Given the description of an element on the screen output the (x, y) to click on. 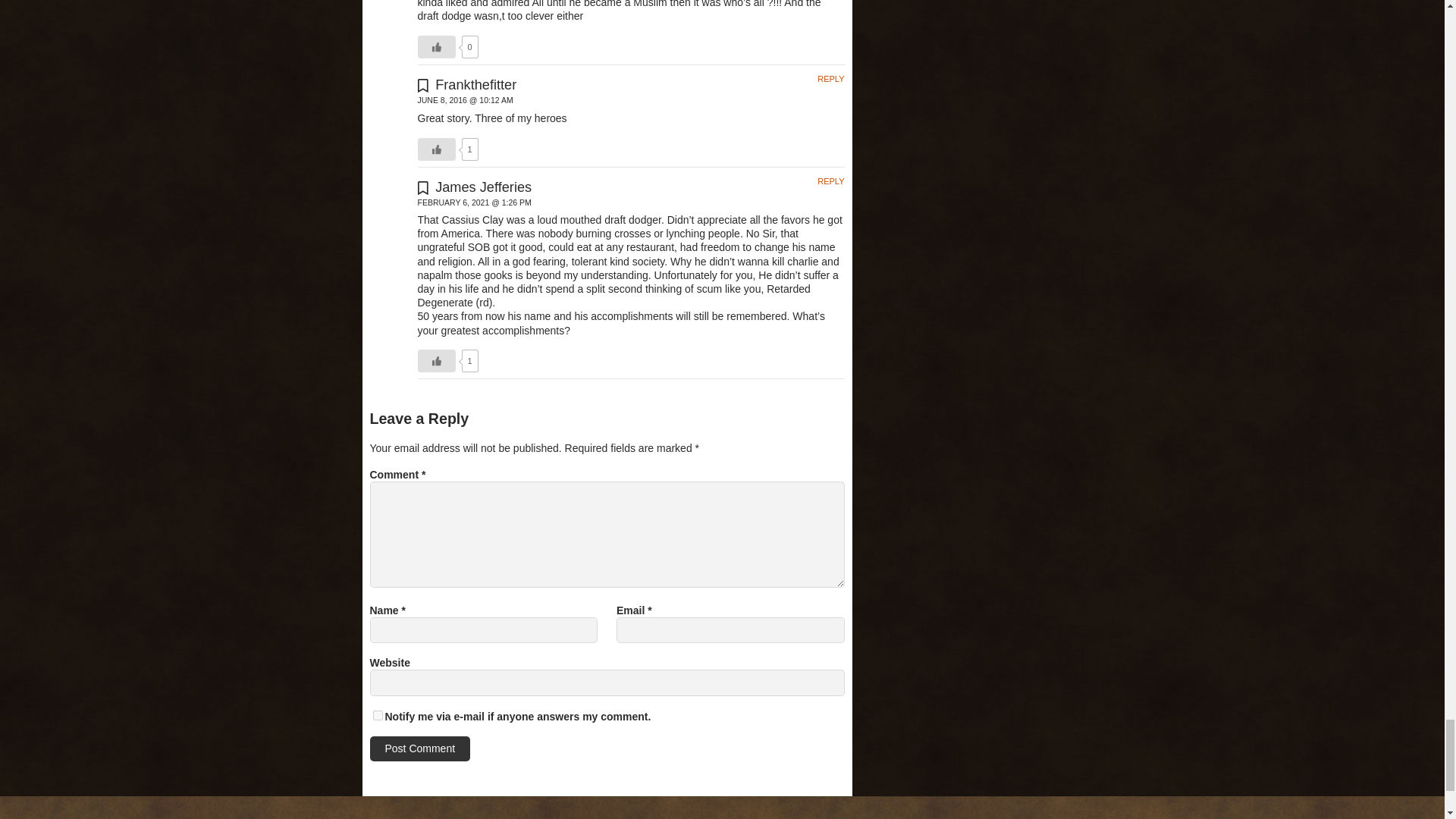
Post Comment (419, 748)
on (377, 715)
